Given the description of an element on the screen output the (x, y) to click on. 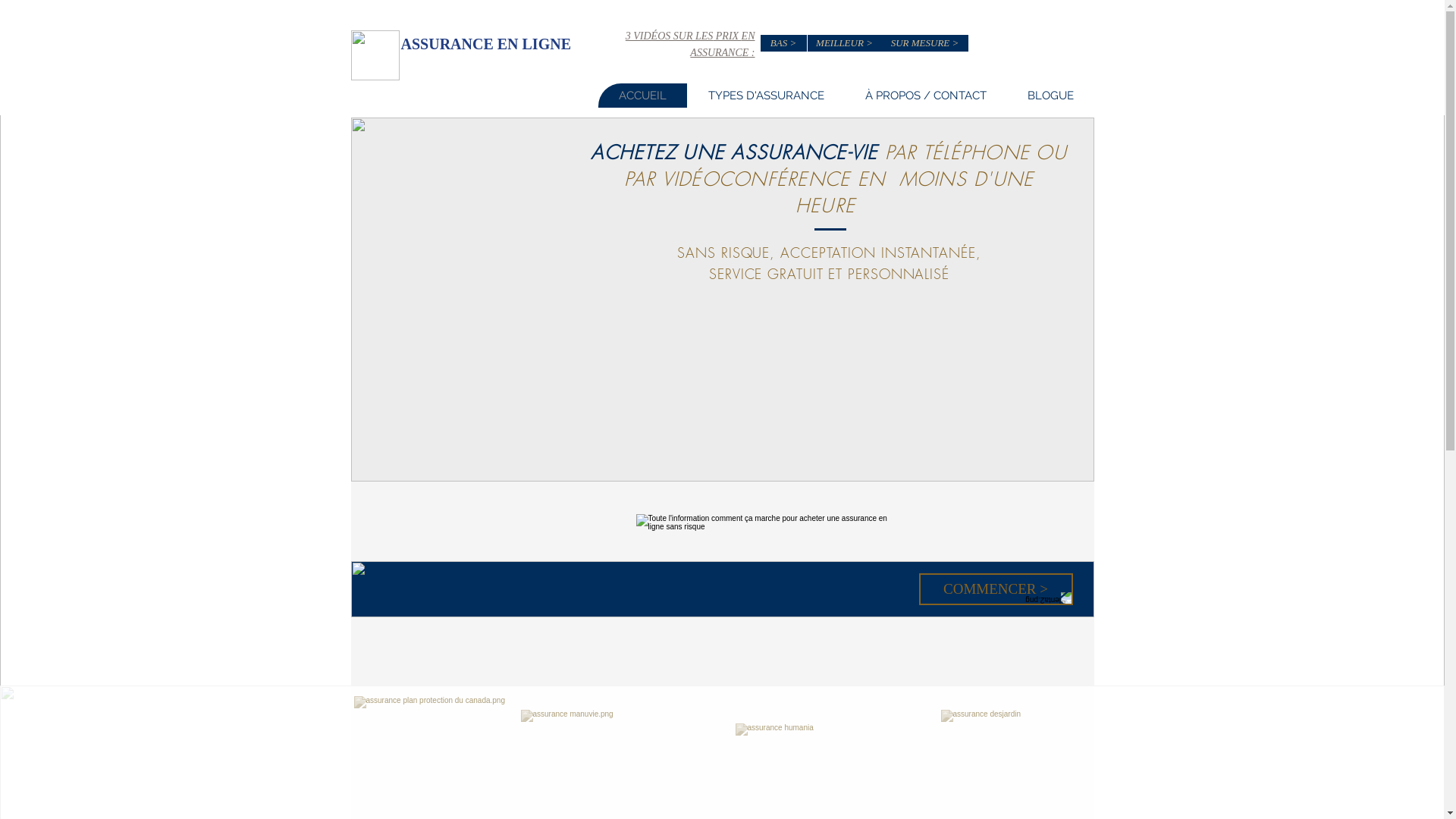
BAS > Element type: text (782, 42)
ASSURANCE EN LIGNE Element type: text (485, 43)
COMMENCER > Element type: text (996, 589)
ACCUEIL Element type: text (641, 95)
BLOGUE Element type: text (1050, 95)
MEILLEUR > Element type: text (843, 42)
SUR MESURE > Element type: text (924, 42)
